Given the description of an element on the screen output the (x, y) to click on. 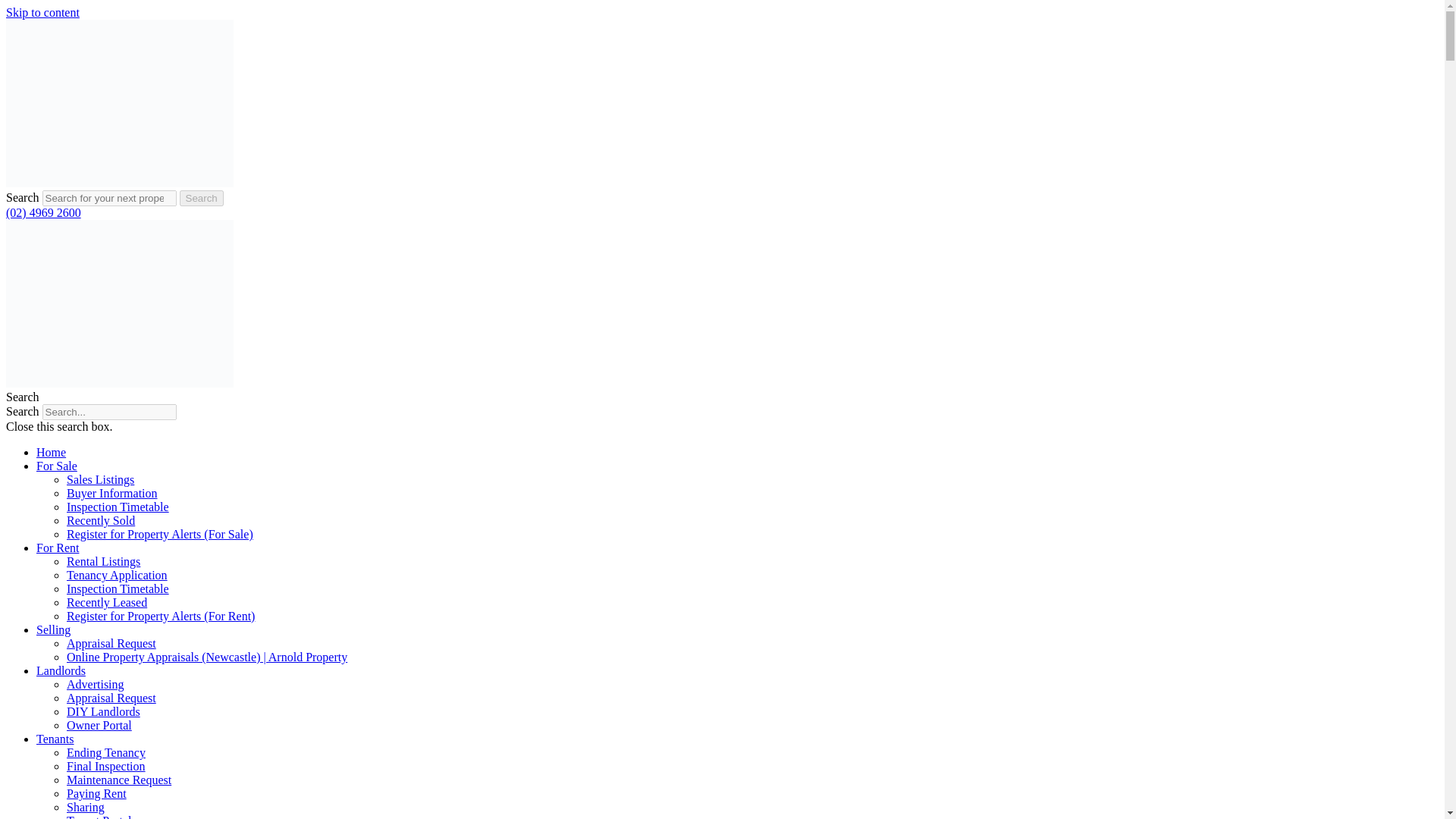
Paying Rent (96, 793)
For Rent (57, 547)
Ending Tenancy (105, 752)
Maintenance Request (118, 779)
Tenancy Application (116, 574)
Rental Listings (102, 561)
Home (50, 451)
Final Inspection (105, 766)
Selling (52, 629)
Sharing (85, 807)
For Sale (56, 465)
Tenant Portal (99, 816)
Recently Sold (100, 520)
Sales Listings (99, 479)
Landlords (60, 670)
